Given the description of an element on the screen output the (x, y) to click on. 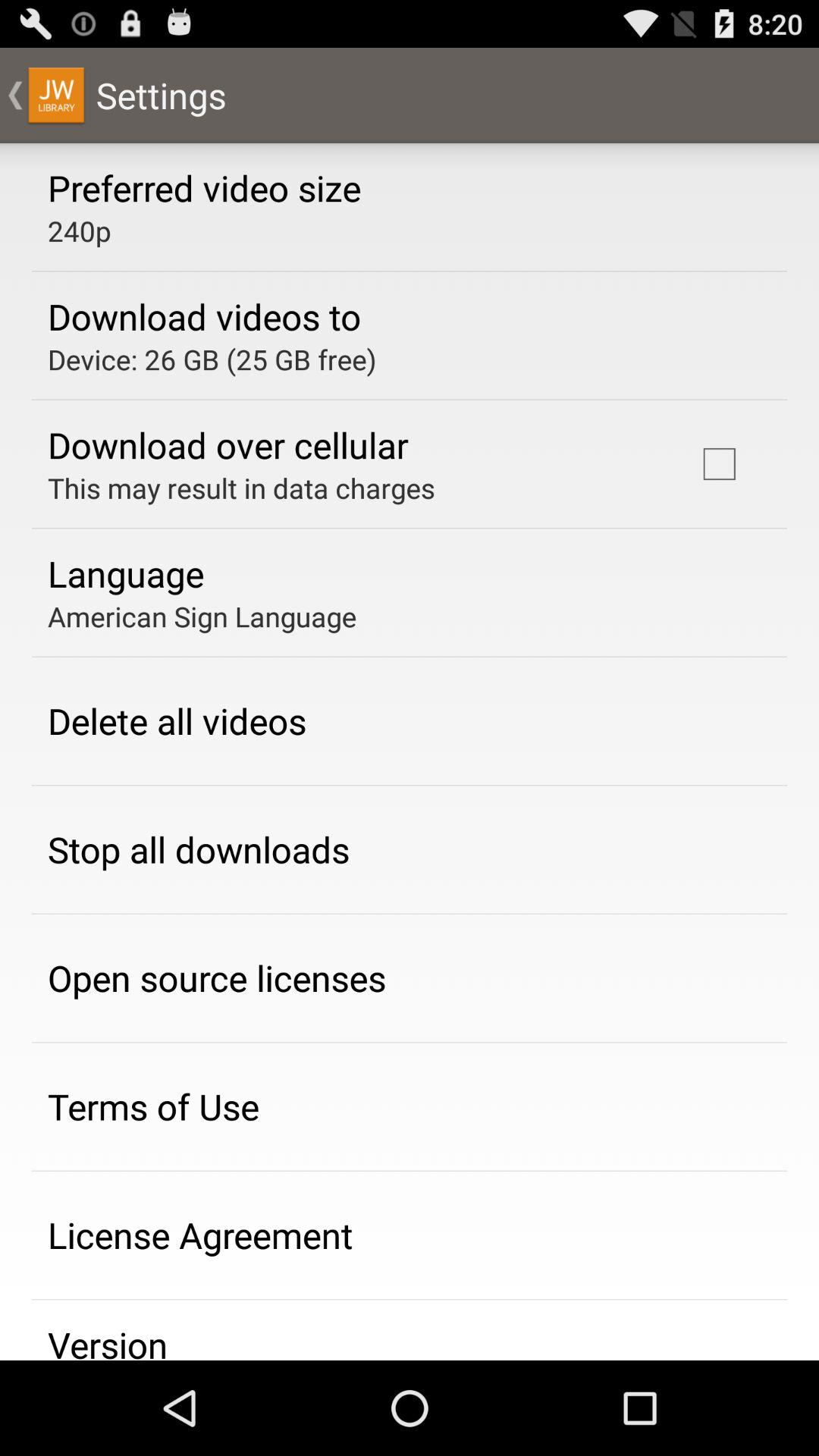
flip until the version item (107, 1340)
